Given the description of an element on the screen output the (x, y) to click on. 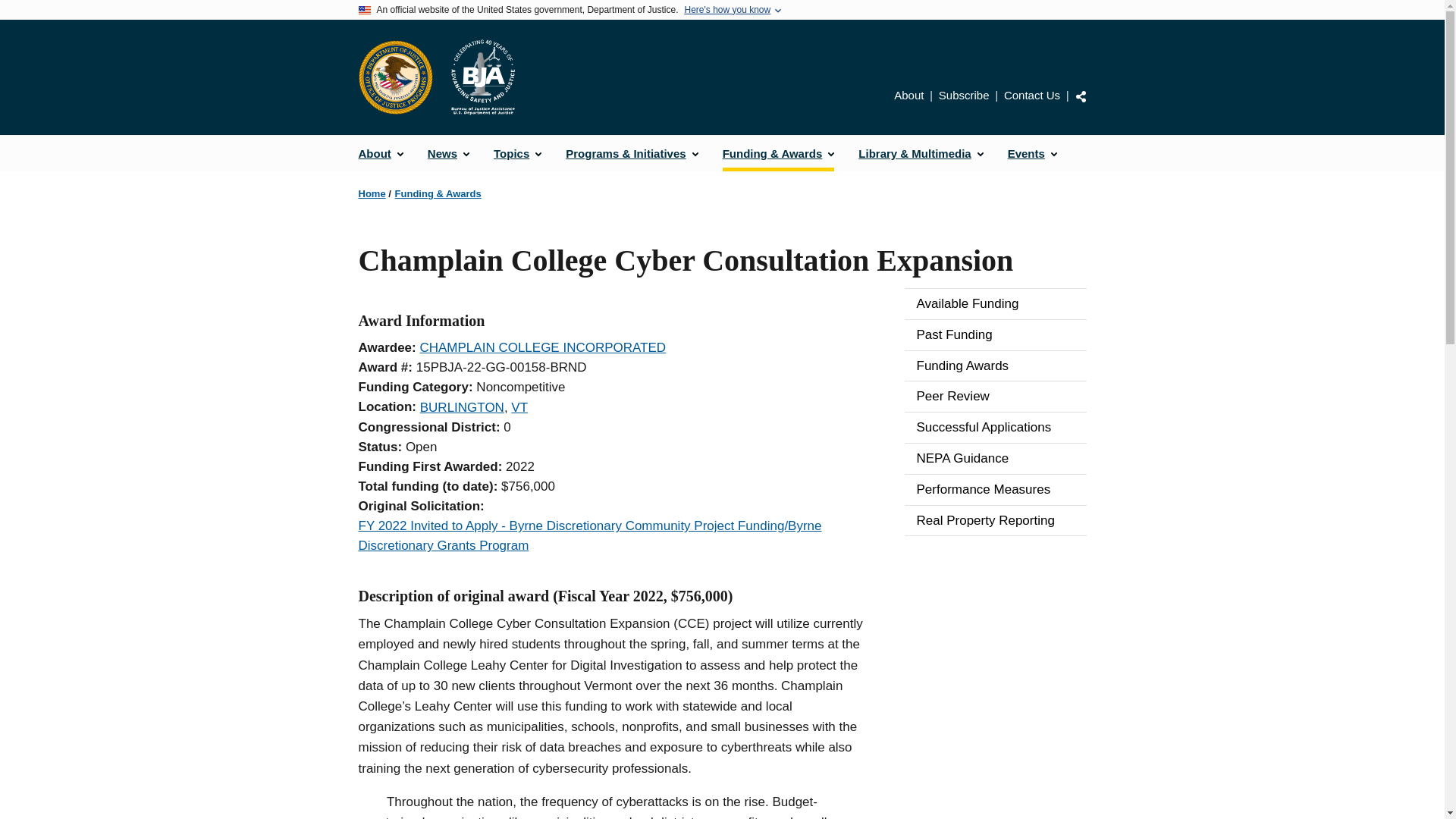
Choose a social sharing platform (1080, 96)
BURLINGTON (461, 407)
Share (1080, 96)
NEPA Guidance (995, 458)
Home (371, 193)
Subscribe (964, 94)
Available Funding (995, 304)
About (380, 153)
Contact Us (1031, 94)
Funding Awards (995, 366)
